Given the description of an element on the screen output the (x, y) to click on. 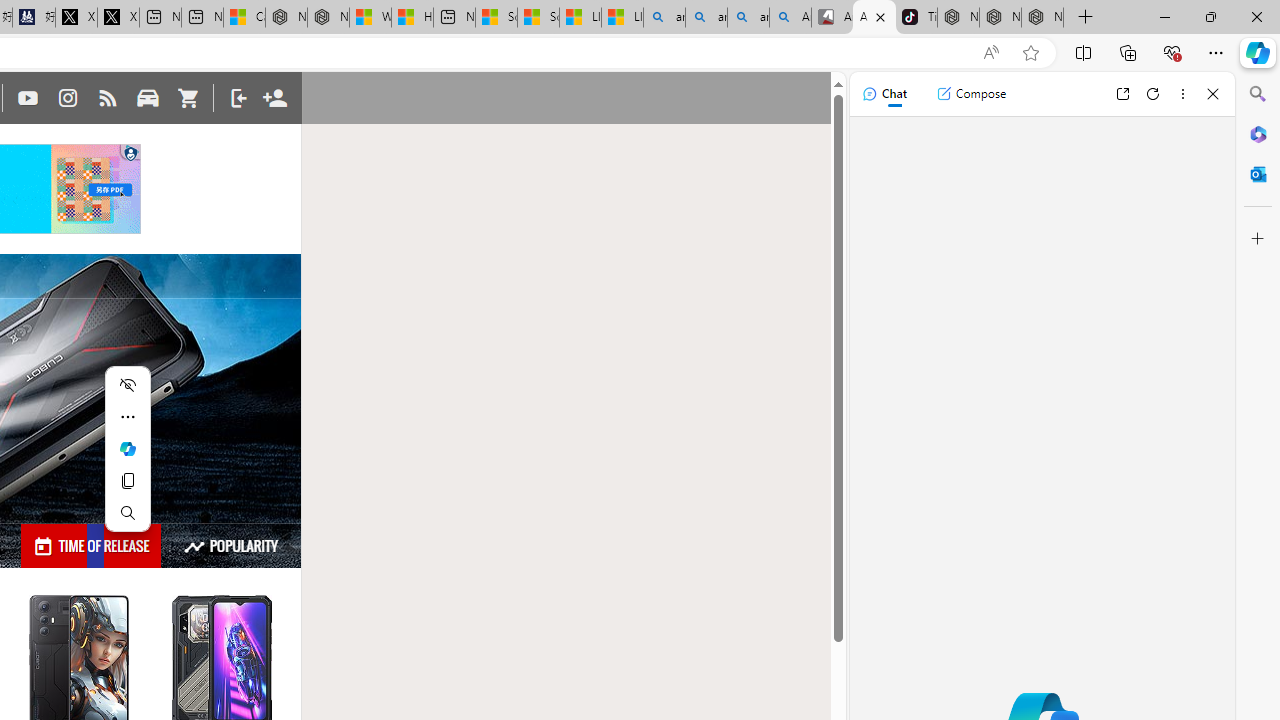
Class: qc-adchoices-icon (132, 151)
Amazon Echo Robot - Search Images (790, 17)
Customize (1258, 239)
TikTok (916, 17)
